Given the description of an element on the screen output the (x, y) to click on. 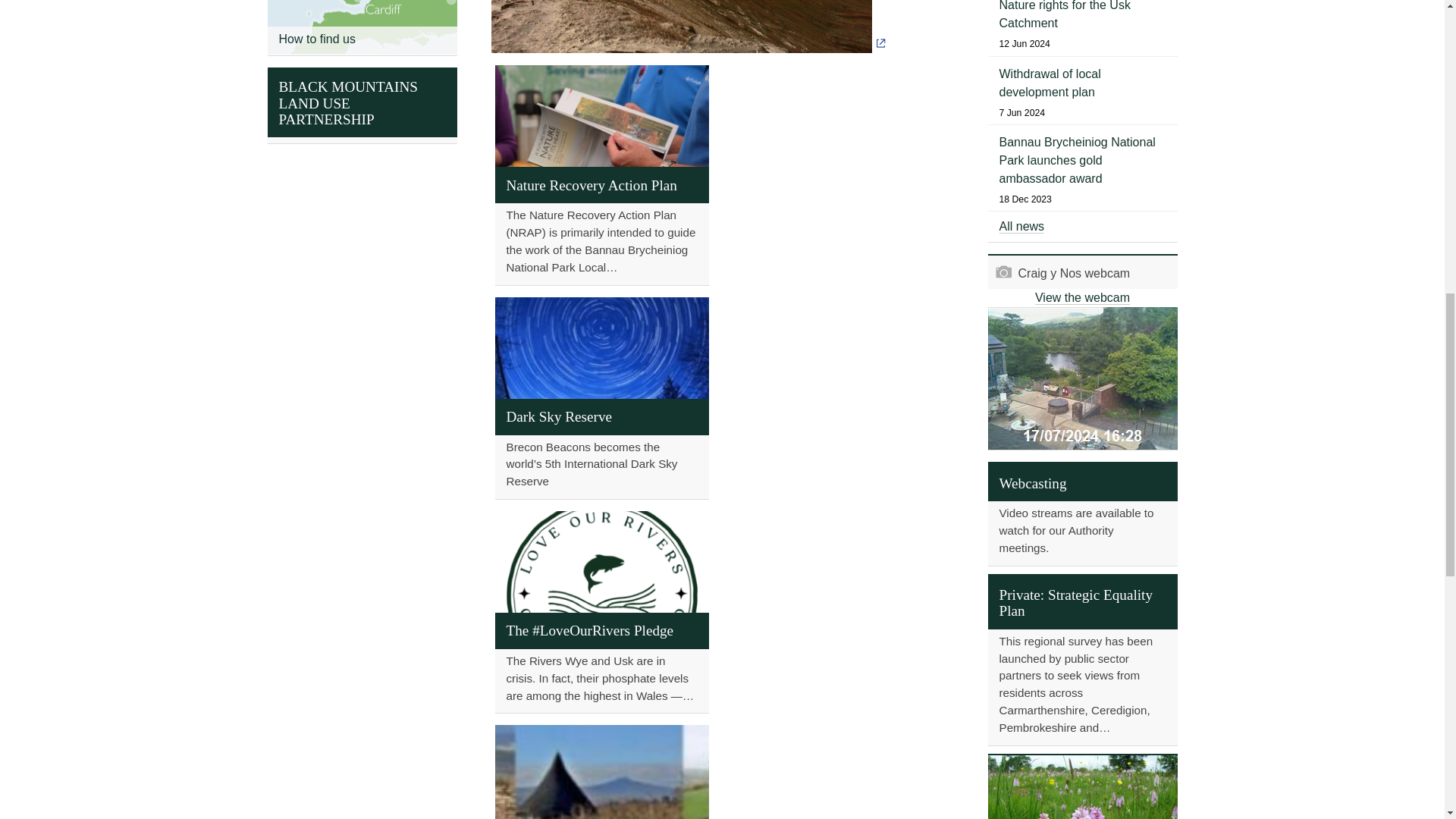
Donations and Legacies (1081, 787)
How to find us (361, 27)
Historic Environment Action Plan (601, 771)
Webcasting (1081, 514)
Private: Strategic Equality Plan (1081, 660)
Nature Recovery Action Plan (601, 174)
